Given the description of an element on the screen output the (x, y) to click on. 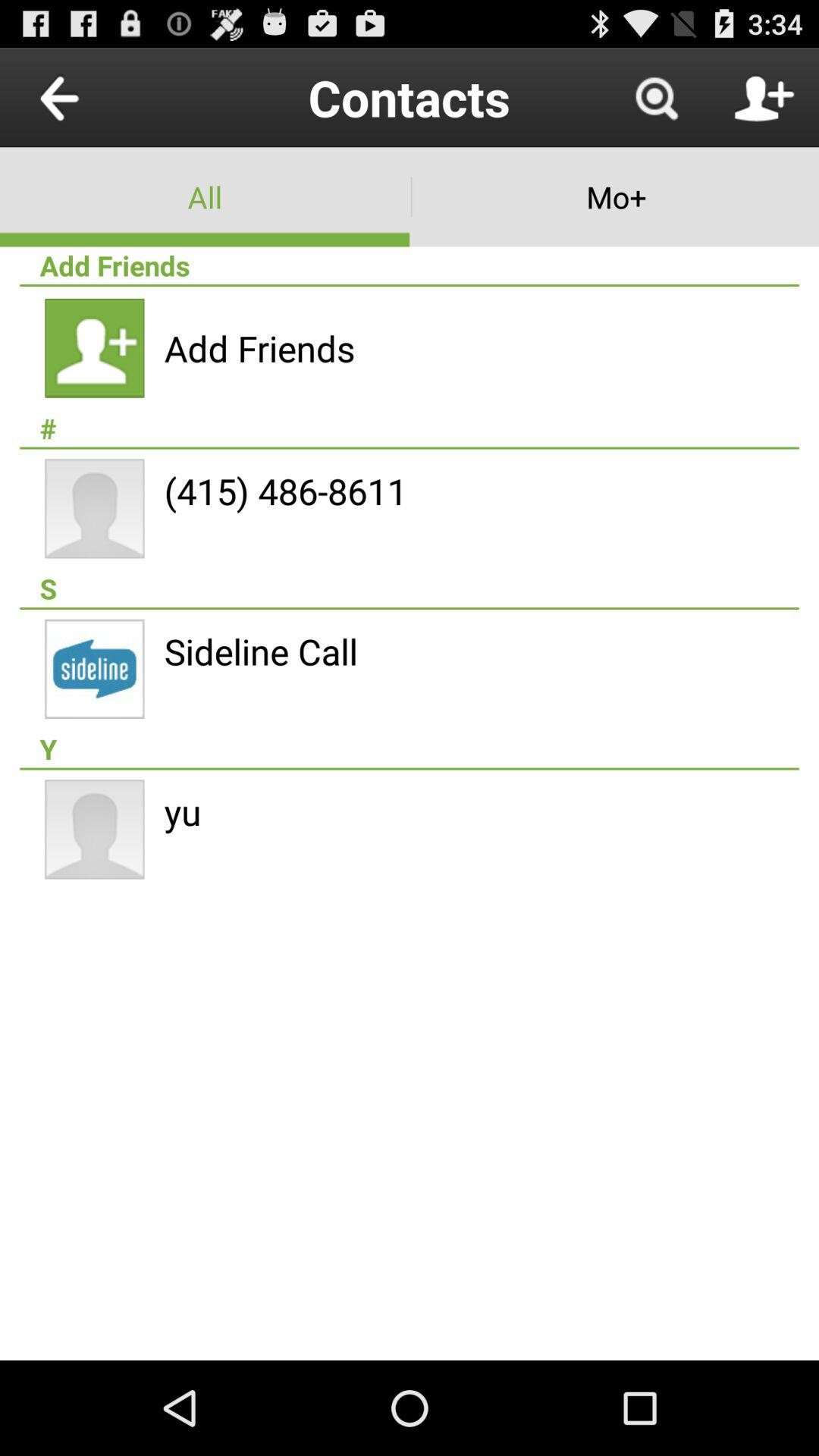
scroll until the s icon (409, 588)
